Given the description of an element on the screen output the (x, y) to click on. 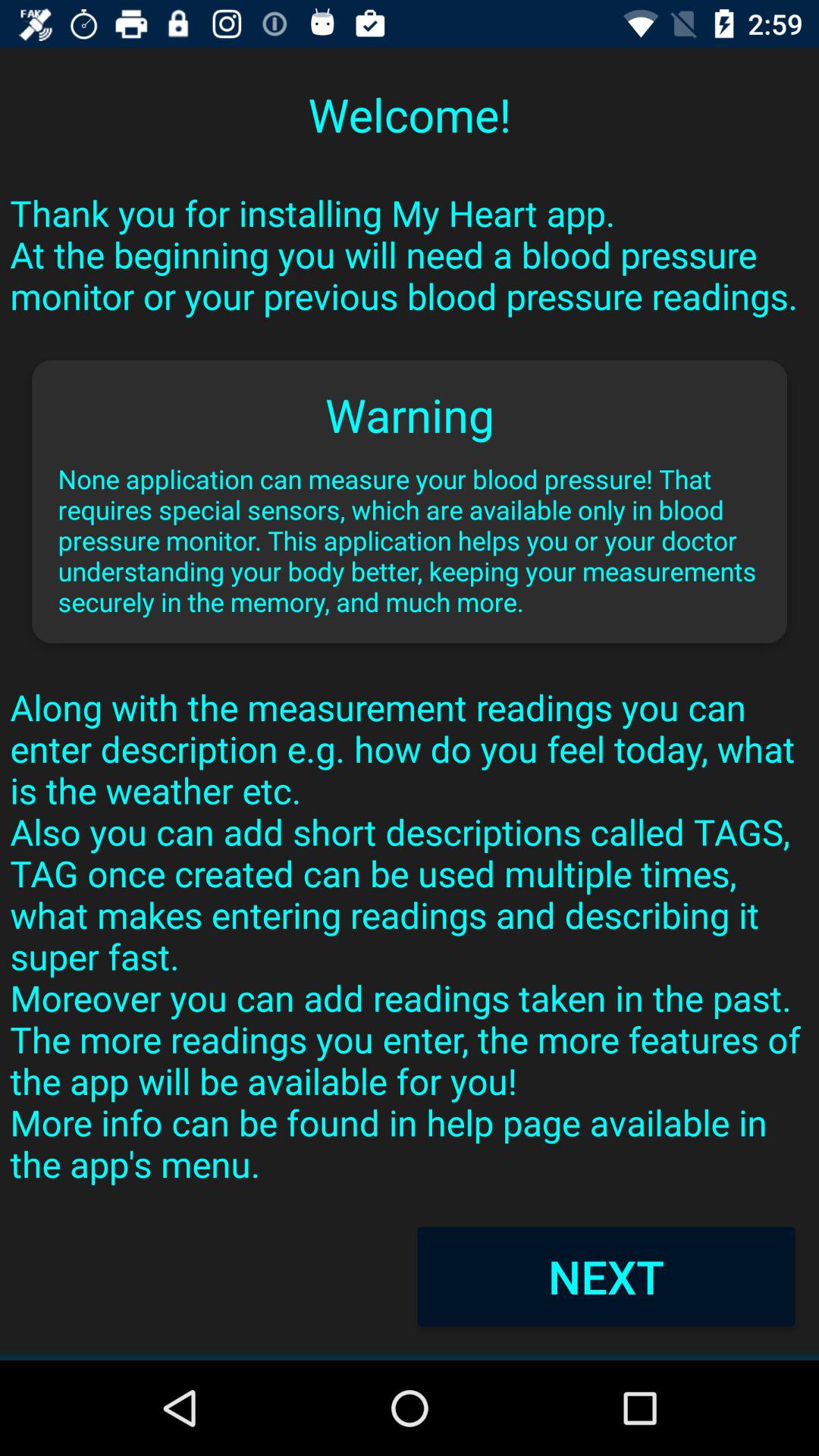
jump to the next item (606, 1276)
